Given the description of an element on the screen output the (x, y) to click on. 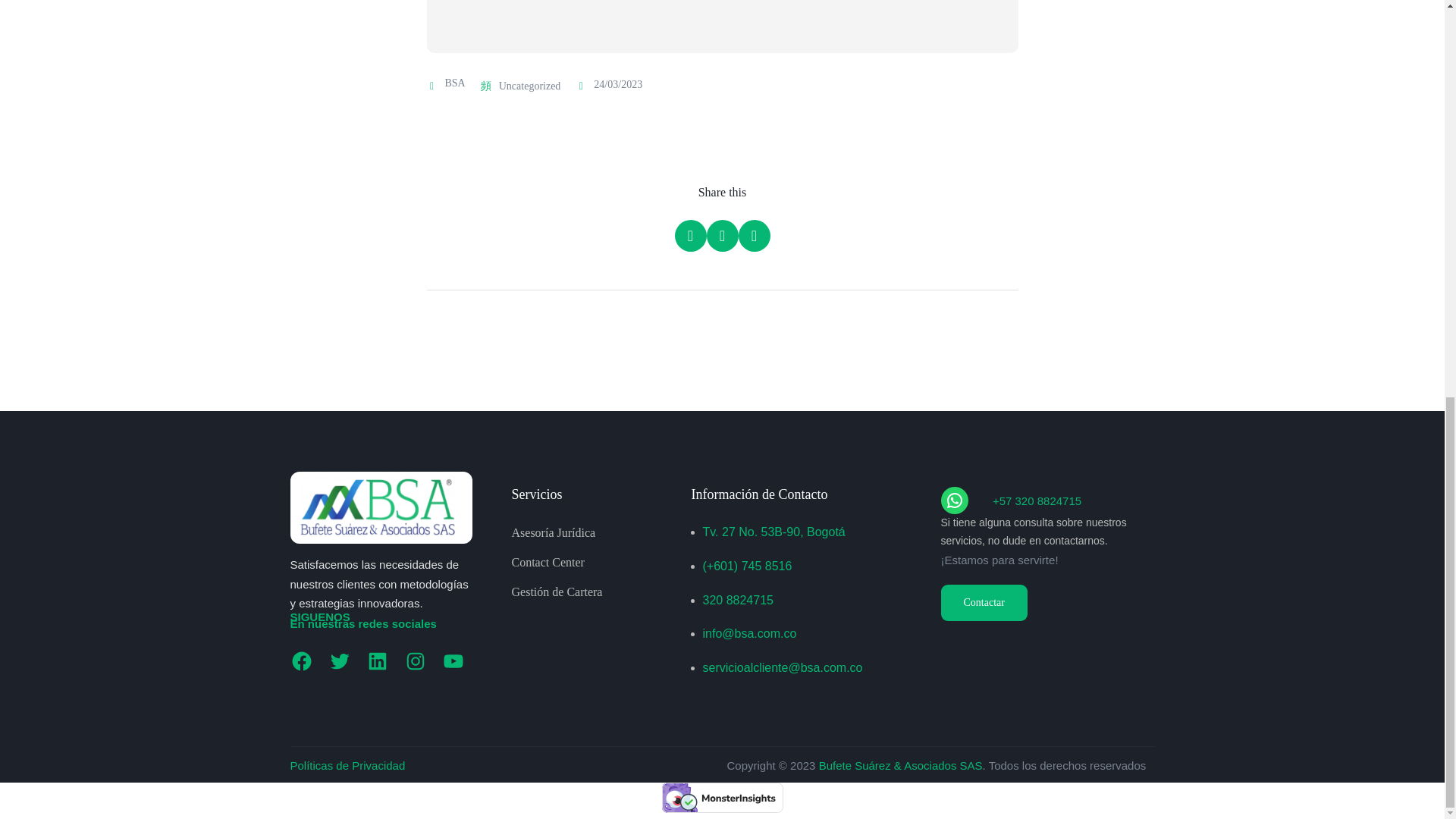
LinkedIn (376, 661)
Verificado por MonsterInsights (722, 797)
Uncategorized (529, 85)
Instagram (414, 661)
Facebook (301, 661)
Twitter (338, 661)
Contact Center (547, 562)
YouTube (452, 661)
